Given the description of an element on the screen output the (x, y) to click on. 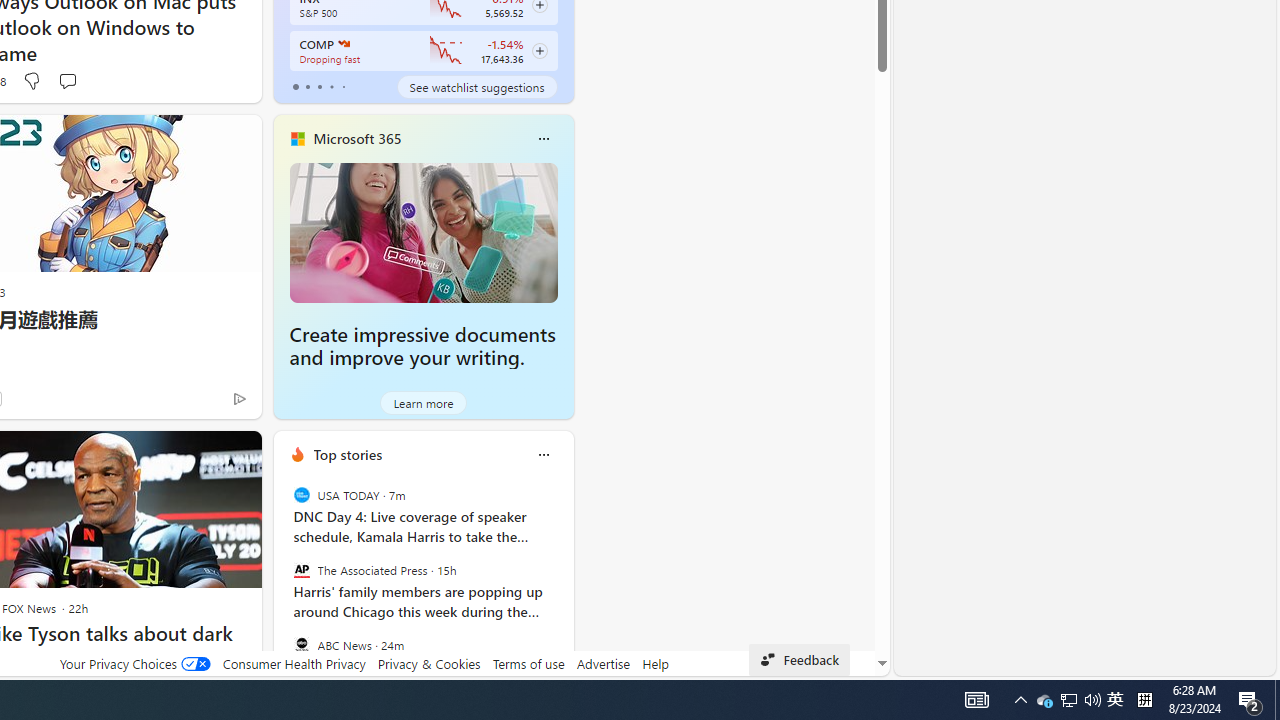
tab-2 (319, 86)
See watchlist suggestions (476, 86)
Top stories (347, 454)
tab-3 (331, 86)
